Given the description of an element on the screen output the (x, y) to click on. 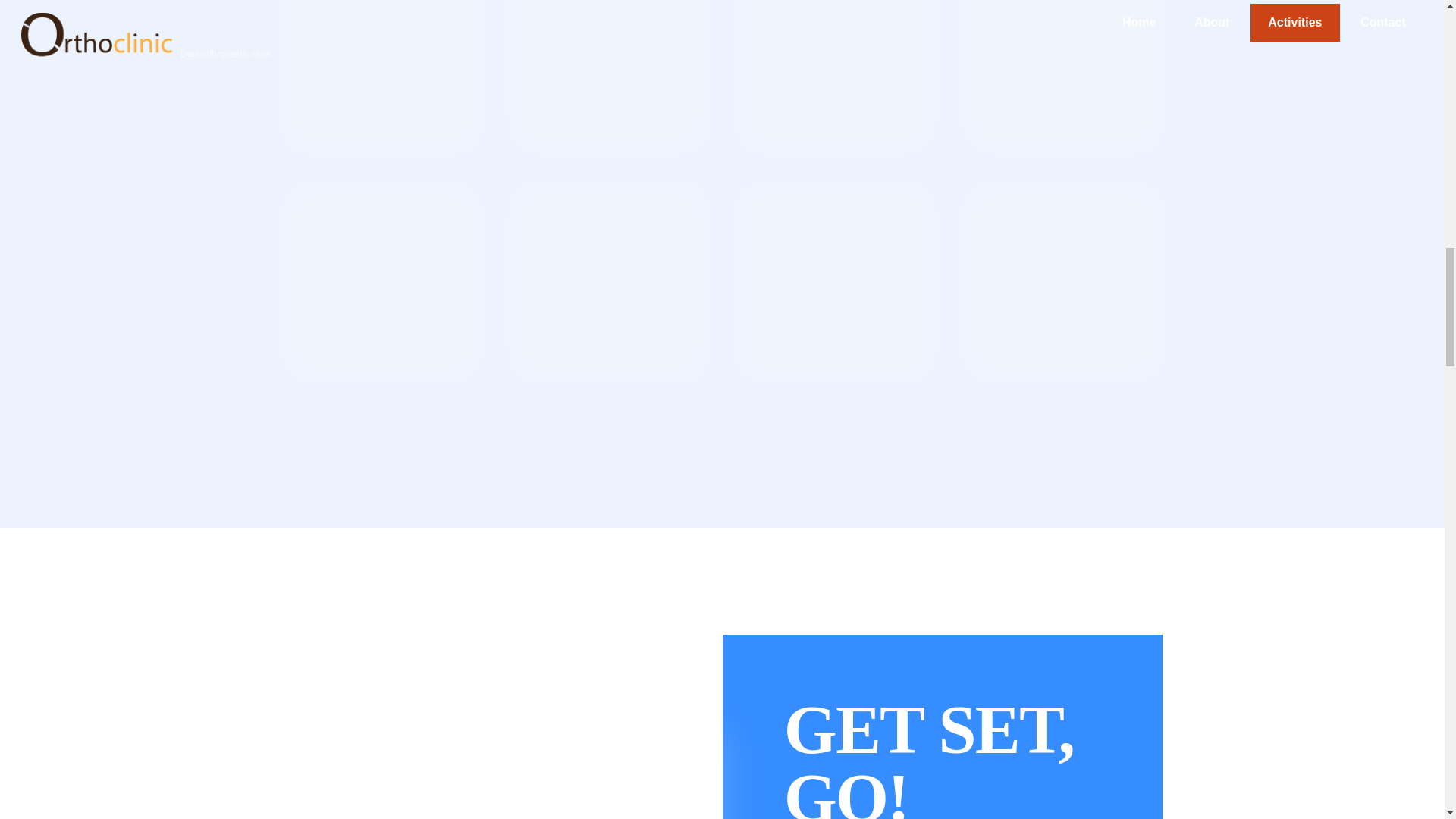
Jogging  (381, 76)
Running  (1061, 76)
Morning Jogging (608, 281)
Marathon Bay 2018 (1061, 281)
Jogging Activity (608, 76)
Activities (502, 775)
Running Across Nature  (835, 281)
Mountain Edge (381, 281)
Ready To Run (835, 76)
